Given the description of an element on the screen output the (x, y) to click on. 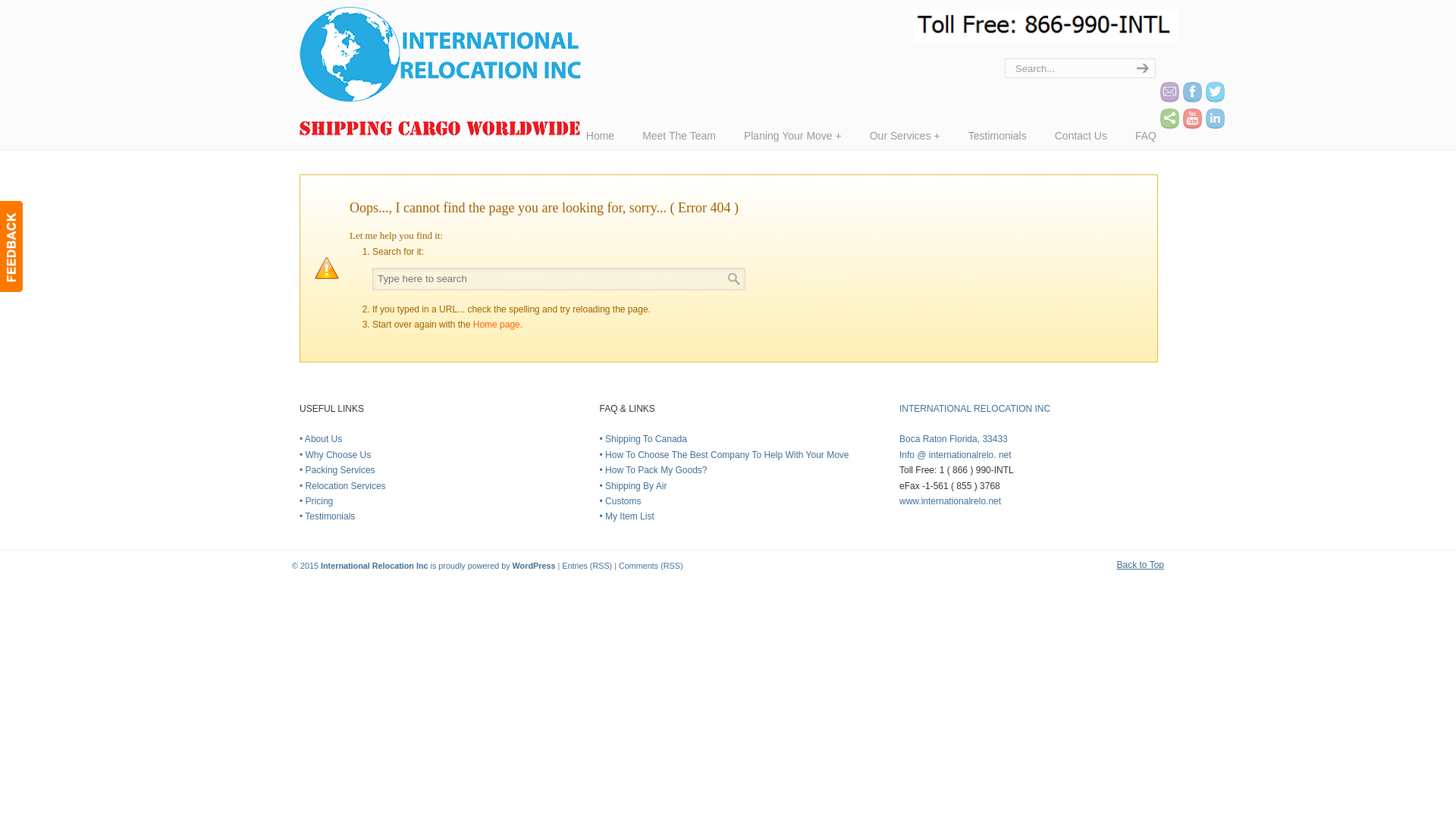
Meet The Team (678, 135)
Facebook (1192, 91)
Search... (1064, 67)
FAQ (1145, 135)
Contact Us (1080, 135)
YouTube (1192, 118)
Twitter (1214, 91)
Search (733, 278)
SHARE (1169, 118)
Search (733, 278)
